Given the description of an element on the screen output the (x, y) to click on. 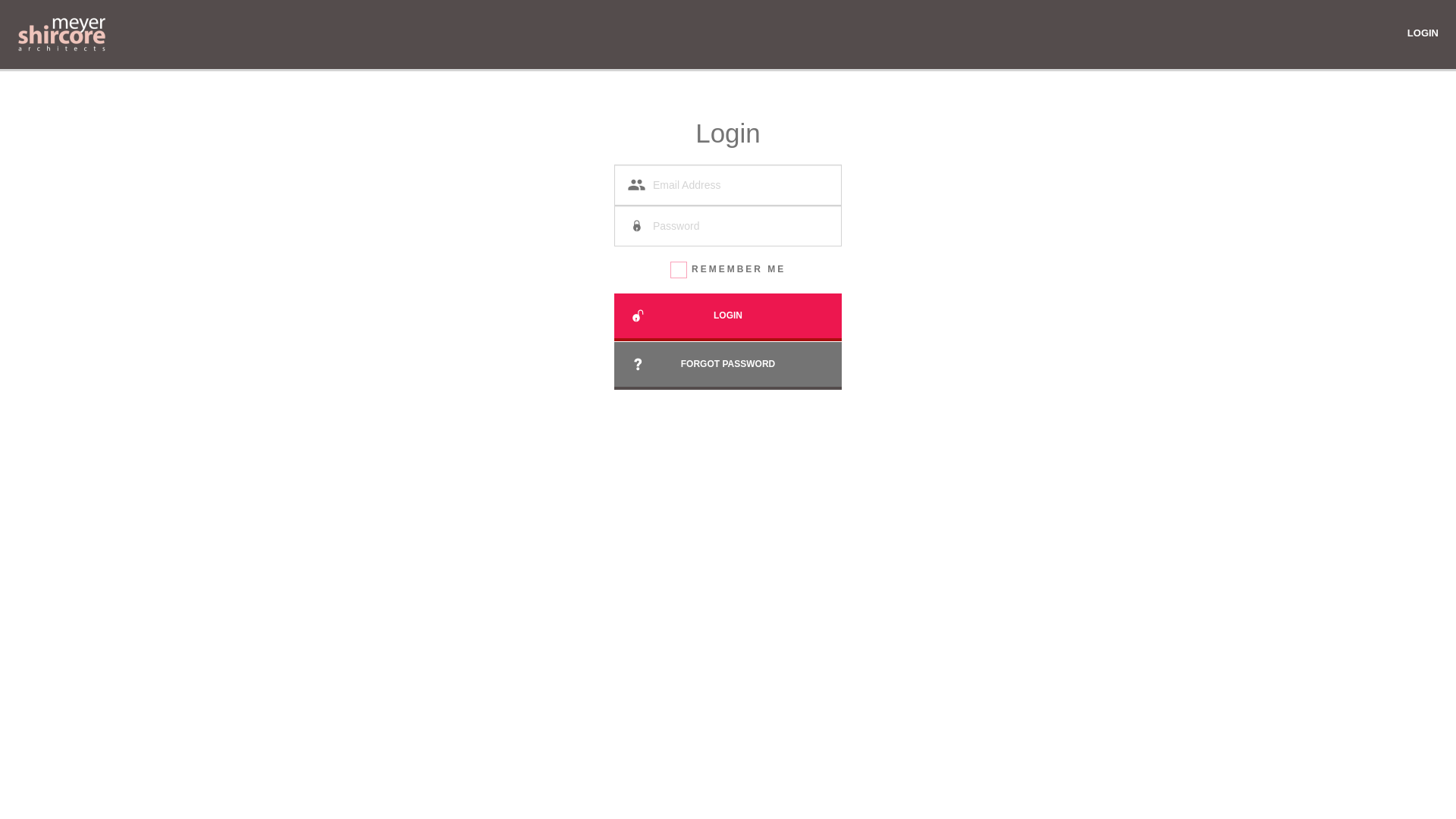
FORGOT PASSWORD Element type: text (727, 364)
LOGIN Element type: text (727, 315)
LOGIN Element type: text (1422, 32)
